Given the description of an element on the screen output the (x, y) to click on. 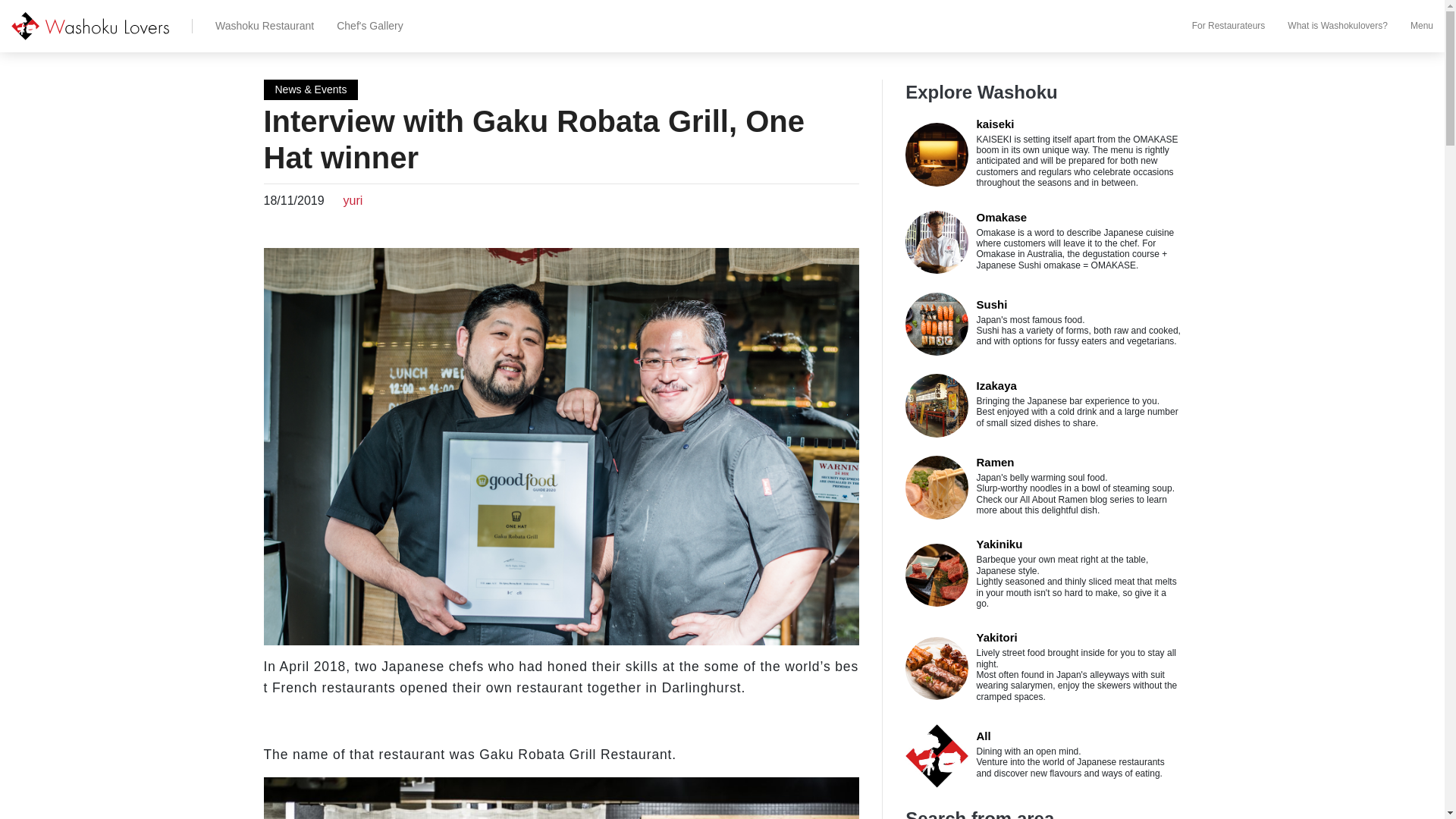
Omakase (1000, 216)
Izakaya (995, 385)
What is Washokulovers? (1326, 25)
Washoku Restaurant (253, 26)
Yakitori (995, 636)
Chef's Gallery (358, 26)
Ramen (994, 461)
Sushi (991, 304)
kaiseki (994, 123)
All (982, 735)
